Given the description of an element on the screen output the (x, y) to click on. 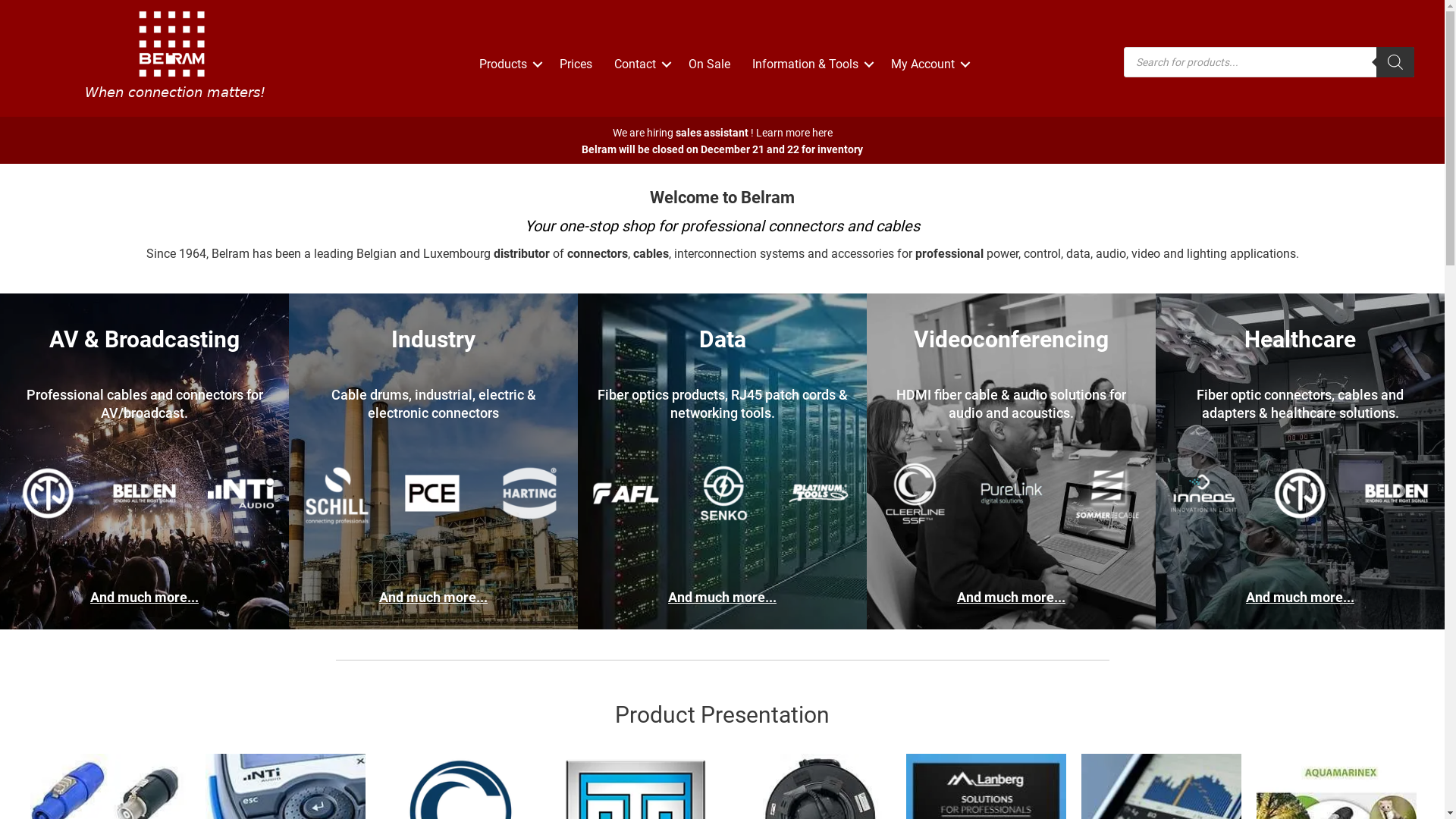
We are hiring sales assistant ! Learn more here Element type: text (722, 132)
Contact Element type: text (640, 64)
inneos-tr-logo Element type: hover (1203, 493)
belden-tr-white-logo Element type: hover (1396, 493)
Prices Element type: text (575, 64)
Harting-white-tr-logo Element type: hover (529, 493)
Senko Logo Homepage Element type: hover (722, 493)
schill-2020-white-tr-logo Element type: hover (337, 493)
And much more... Element type: text (433, 597)
And much more... Element type: text (1299, 597)
Products Element type: text (508, 64)
On Sale Element type: text (708, 64)
belden-tr-white-logo Element type: hover (144, 493)
And much more... Element type: text (722, 597)
platinumtools-white-tr-logo Element type: hover (818, 493)
And much more... Element type: text (144, 597)
afl-hyperscale-white-tr-logo Element type: hover (625, 493)
belram-logo-white-100 Element type: hover (174, 54)
And much more... Element type: text (1011, 597)
cleerline-white-tr-logo Element type: hover (914, 493)
My Account Element type: text (927, 64)
nti-audio-tr-logo Element type: hover (240, 493)
sommercable-white-tr-logo Element type: hover (1107, 493)
purelink-tr-blue-logo Element type: hover (1011, 493)
PCE-white-tr-logo Element type: hover (433, 493)
neutrik-white-tr-logo Element type: hover (1300, 493)
Information & Tools Element type: text (810, 64)
neutrik-white-tr-logo Element type: hover (48, 493)
